Given the description of an element on the screen output the (x, y) to click on. 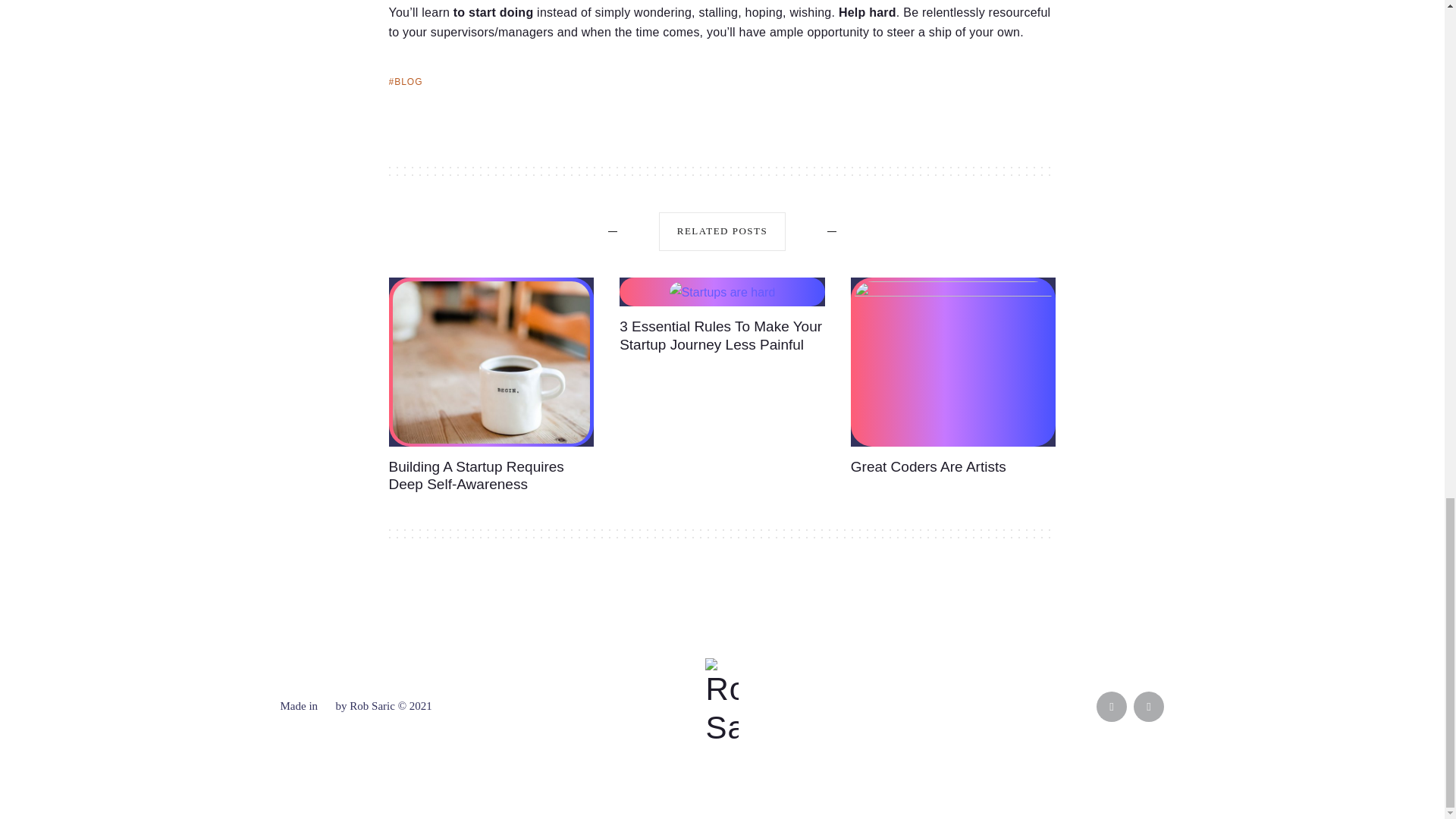
Great Coders Are Artists (928, 466)
Building a Startup Requires Deep Self-Awareness (475, 475)
Instagram (1148, 706)
3 Essential Rules To Make Your Startup Journey Less Painful (721, 335)
Twitter (1111, 706)
